Given the description of an element on the screen output the (x, y) to click on. 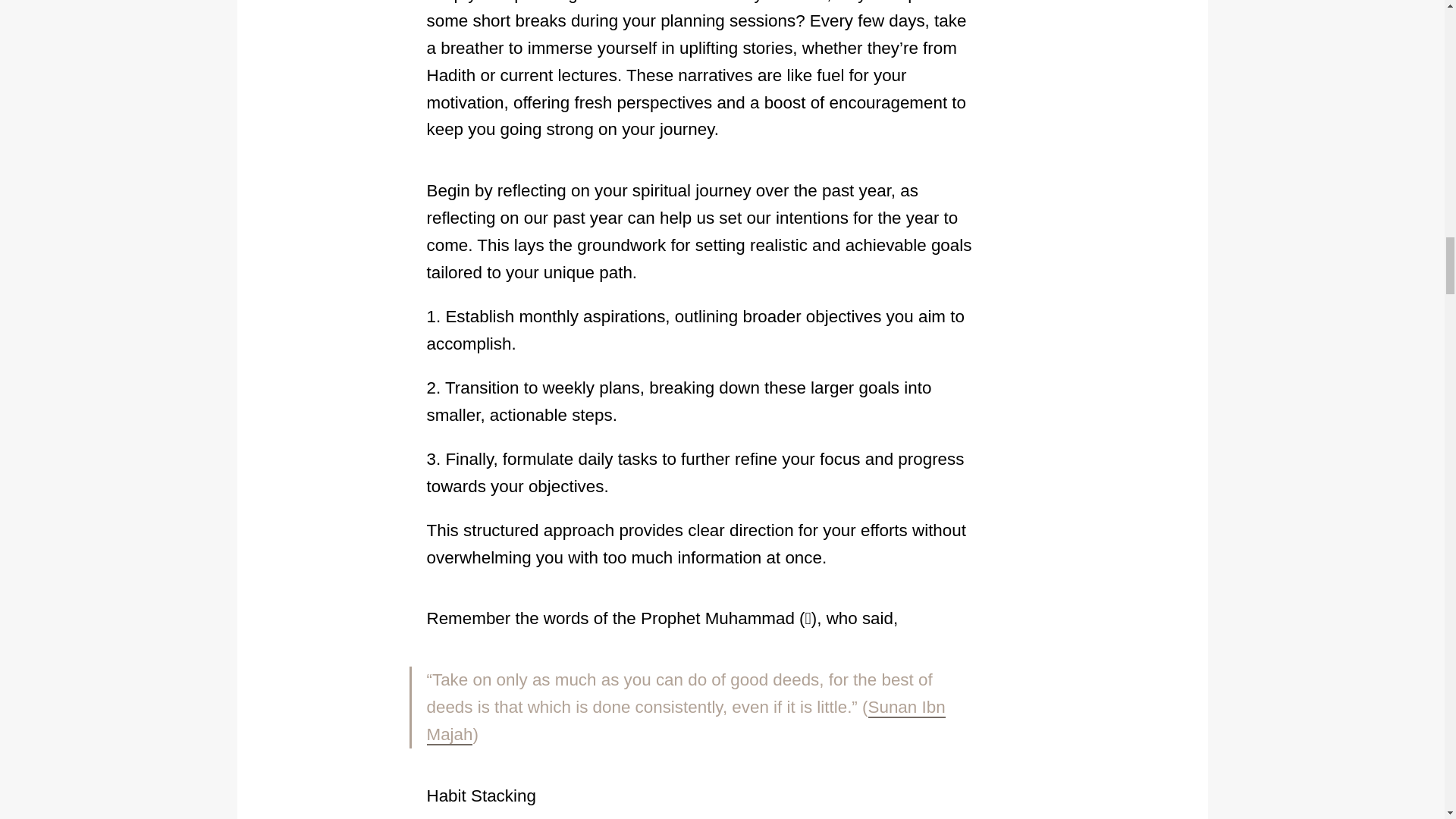
Sunan Ibn Majah (685, 721)
